Given the description of an element on the screen output the (x, y) to click on. 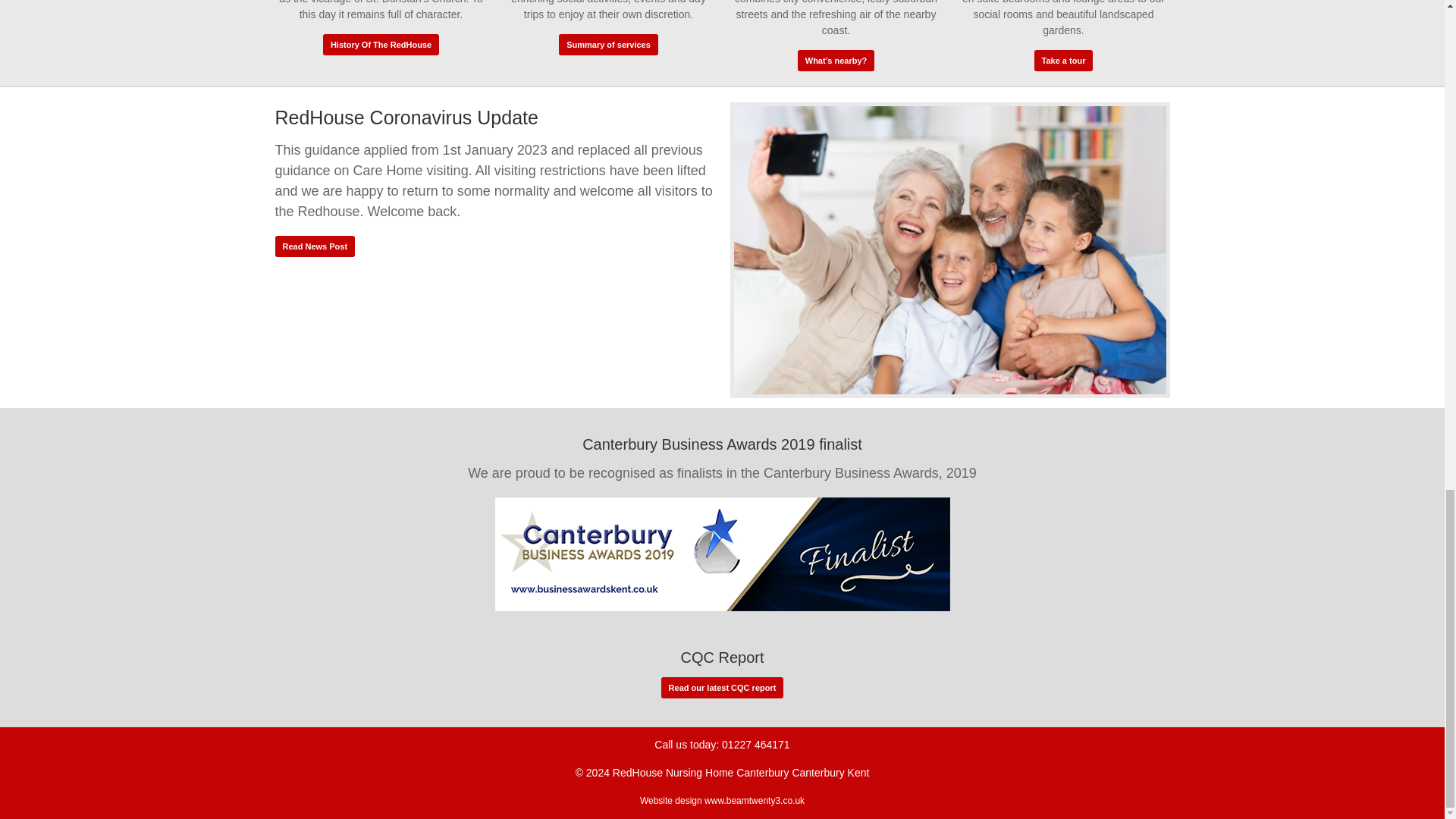
www.beamtwenty3.co.uk (754, 800)
Take a tour (1063, 60)
Read News Post (315, 246)
Summary of services (608, 44)
Read our latest CQC report (722, 687)
01227 464171 (756, 744)
Permanent Link to RedHouse Coronavirus Update (949, 251)
History Of The RedHouse (381, 44)
Canterbury Business awards 2019 (722, 553)
Kent Web Design - WordPress (754, 800)
